Given the description of an element on the screen output the (x, y) to click on. 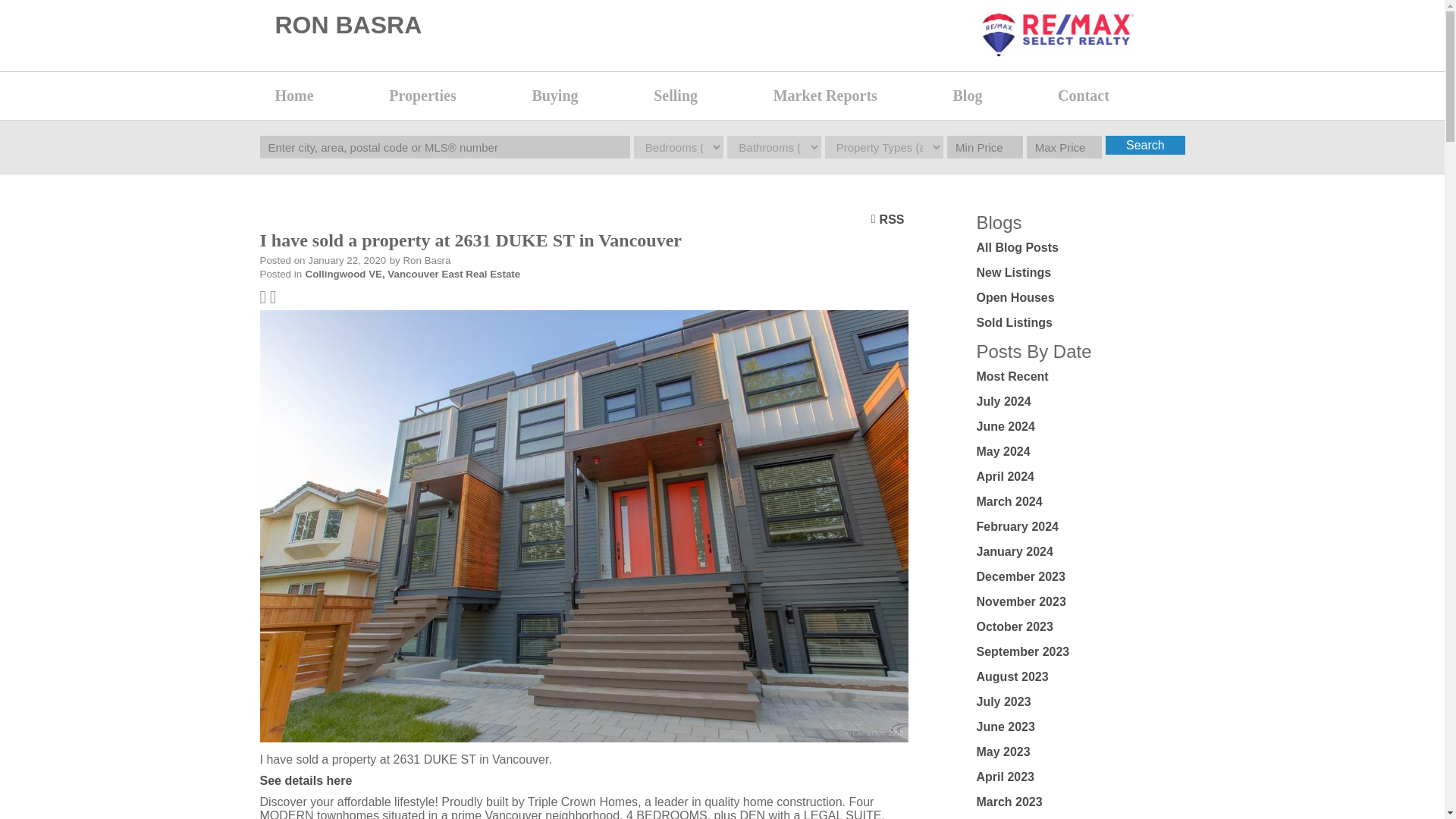
Contact (1112, 95)
Collingwood VE, Vancouver East Real Estate (413, 274)
July 2024 (1003, 400)
November 2023 (1020, 601)
Market Reports (854, 95)
Most Recent (1012, 376)
All Blog Posts (1017, 246)
Selling (705, 95)
May 2024 (1003, 451)
Properties (452, 95)
Blog (997, 95)
June 2024 (1005, 426)
Sold Listings (1014, 322)
December 2023 (1020, 576)
April 2024 (1004, 476)
